Given the description of an element on the screen output the (x, y) to click on. 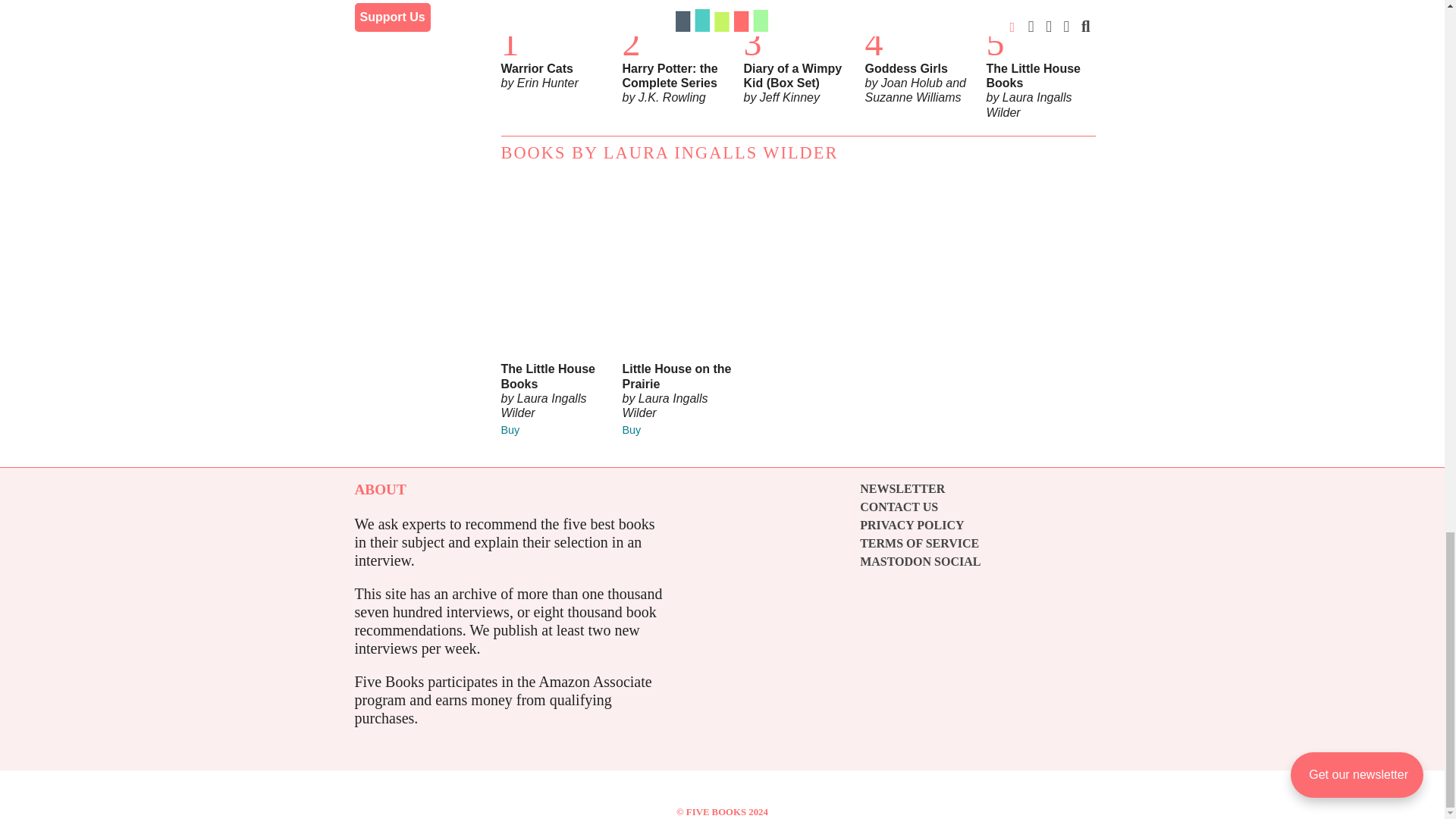
Best Series for 10 Year Olds - Warrior Cats by Erin Hunter (555, 12)
